Given the description of an element on the screen output the (x, y) to click on. 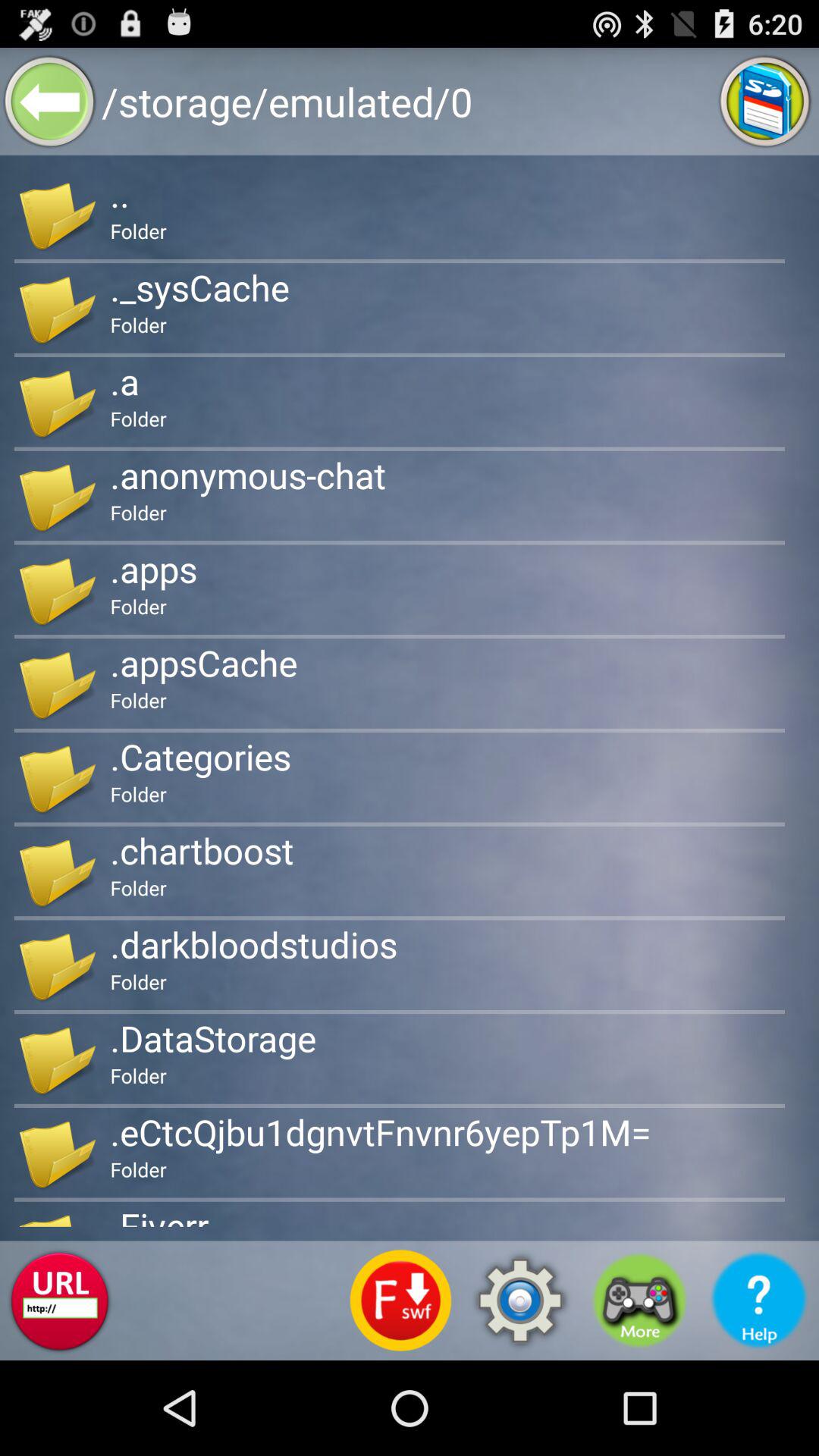
play games (639, 1300)
